Given the description of an element on the screen output the (x, y) to click on. 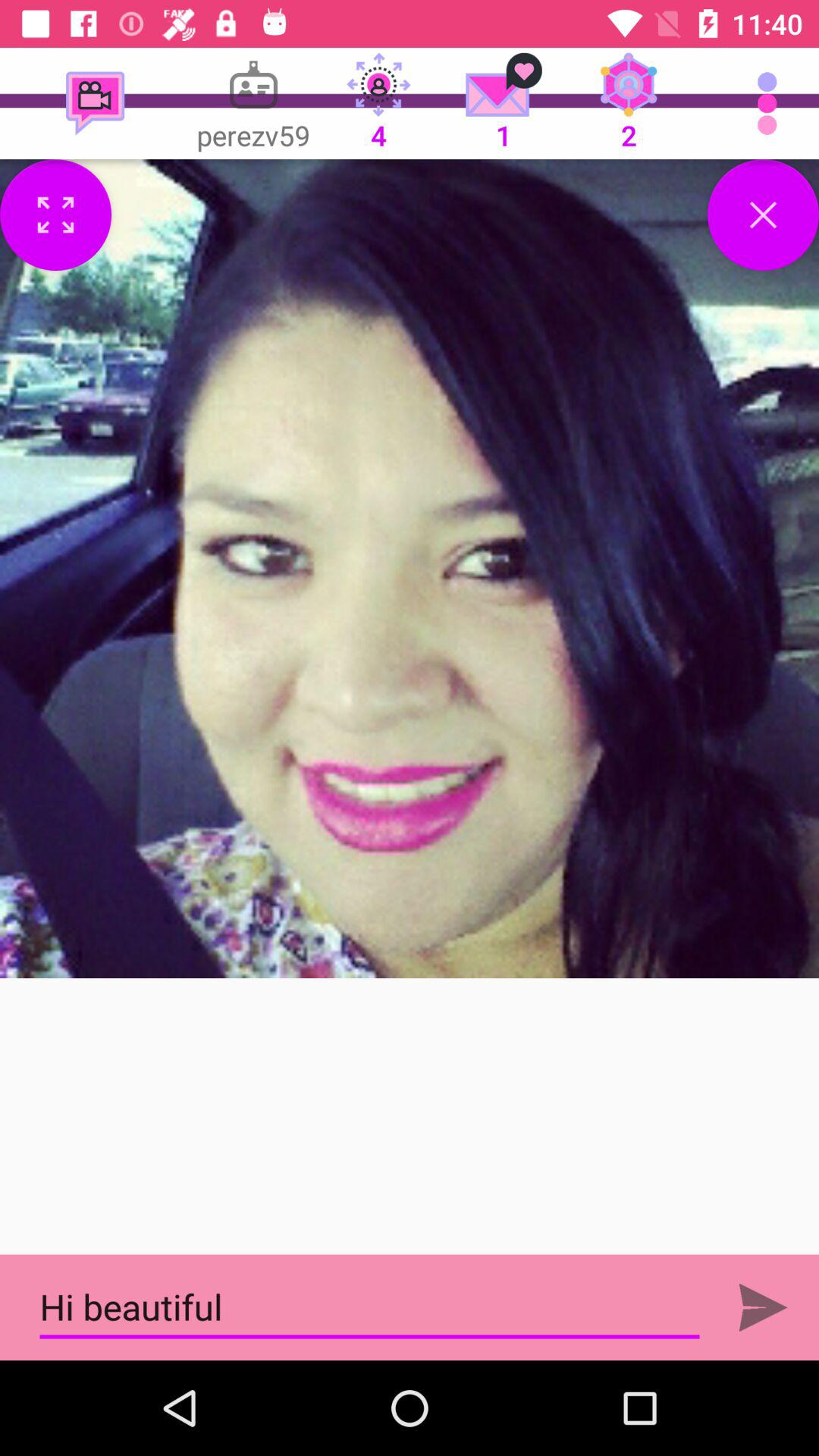
go to close (763, 214)
